Given the description of an element on the screen output the (x, y) to click on. 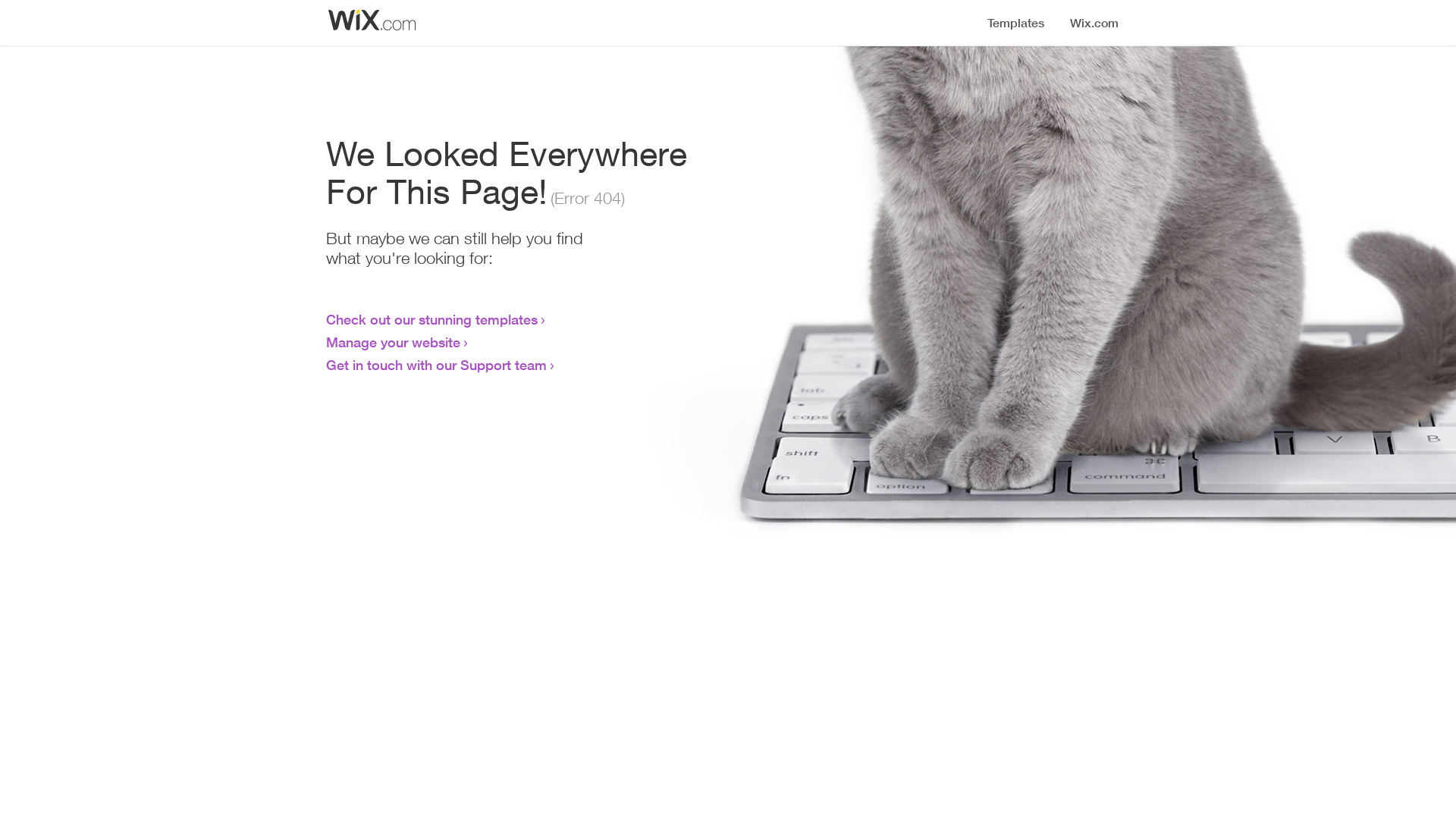
Check out our stunning templates Element type: text (431, 318)
Get in touch with our Support team Element type: text (436, 364)
Manage your website Element type: text (393, 341)
